Given the description of an element on the screen output the (x, y) to click on. 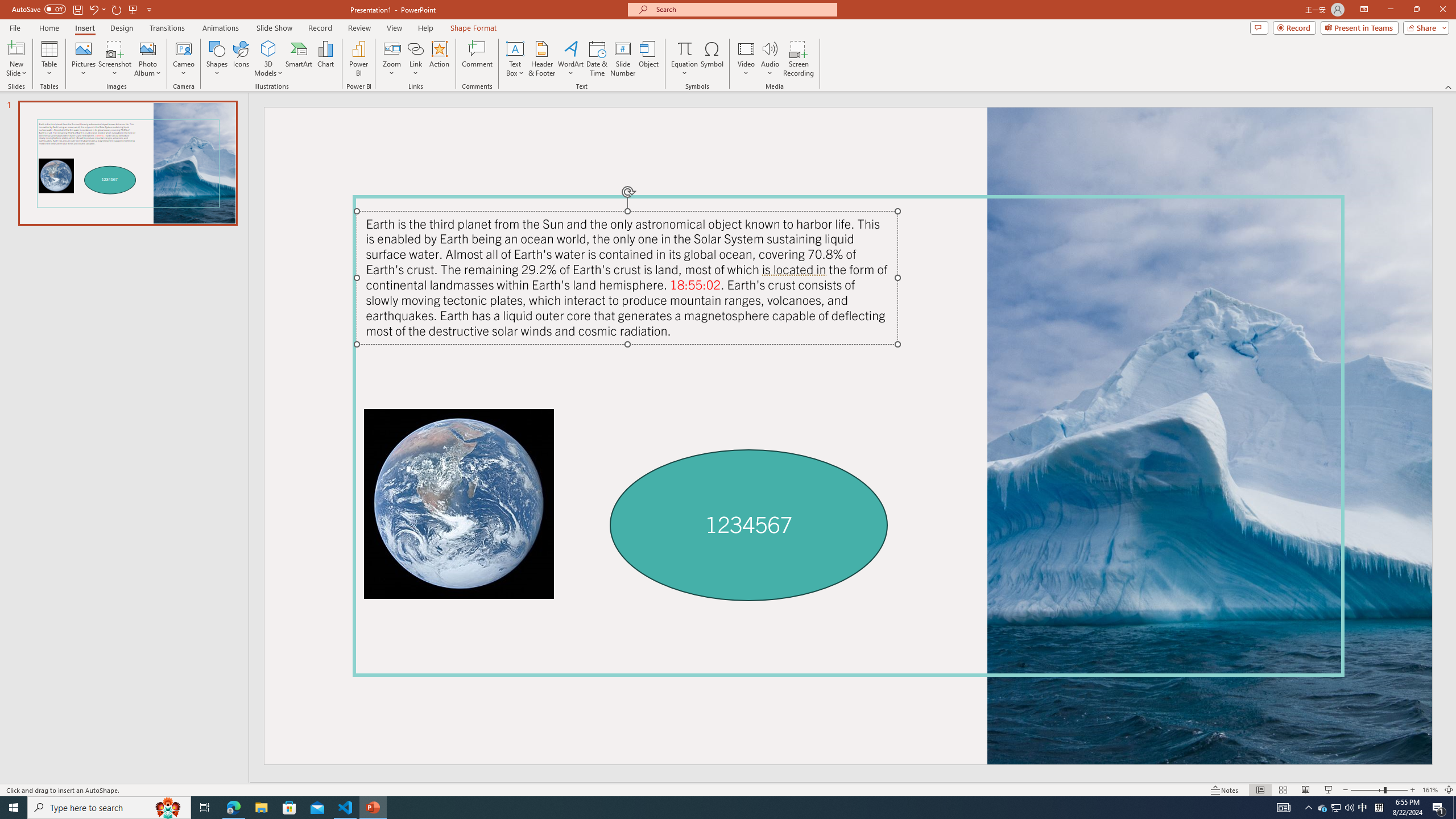
Action (439, 58)
SmartArt... (298, 58)
Screenshot (114, 58)
